Given the description of an element on the screen output the (x, y) to click on. 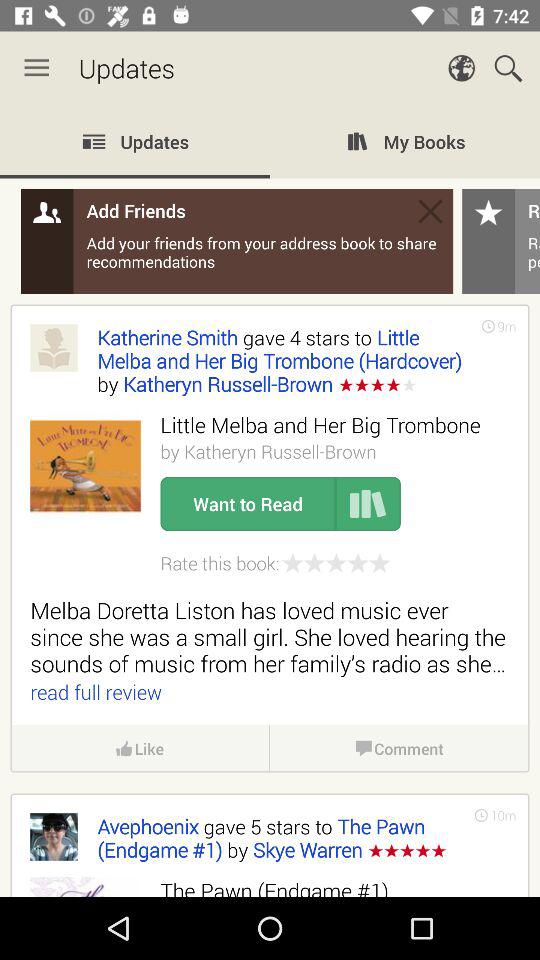
press item to the right of the want to read item (367, 503)
